Given the description of an element on the screen output the (x, y) to click on. 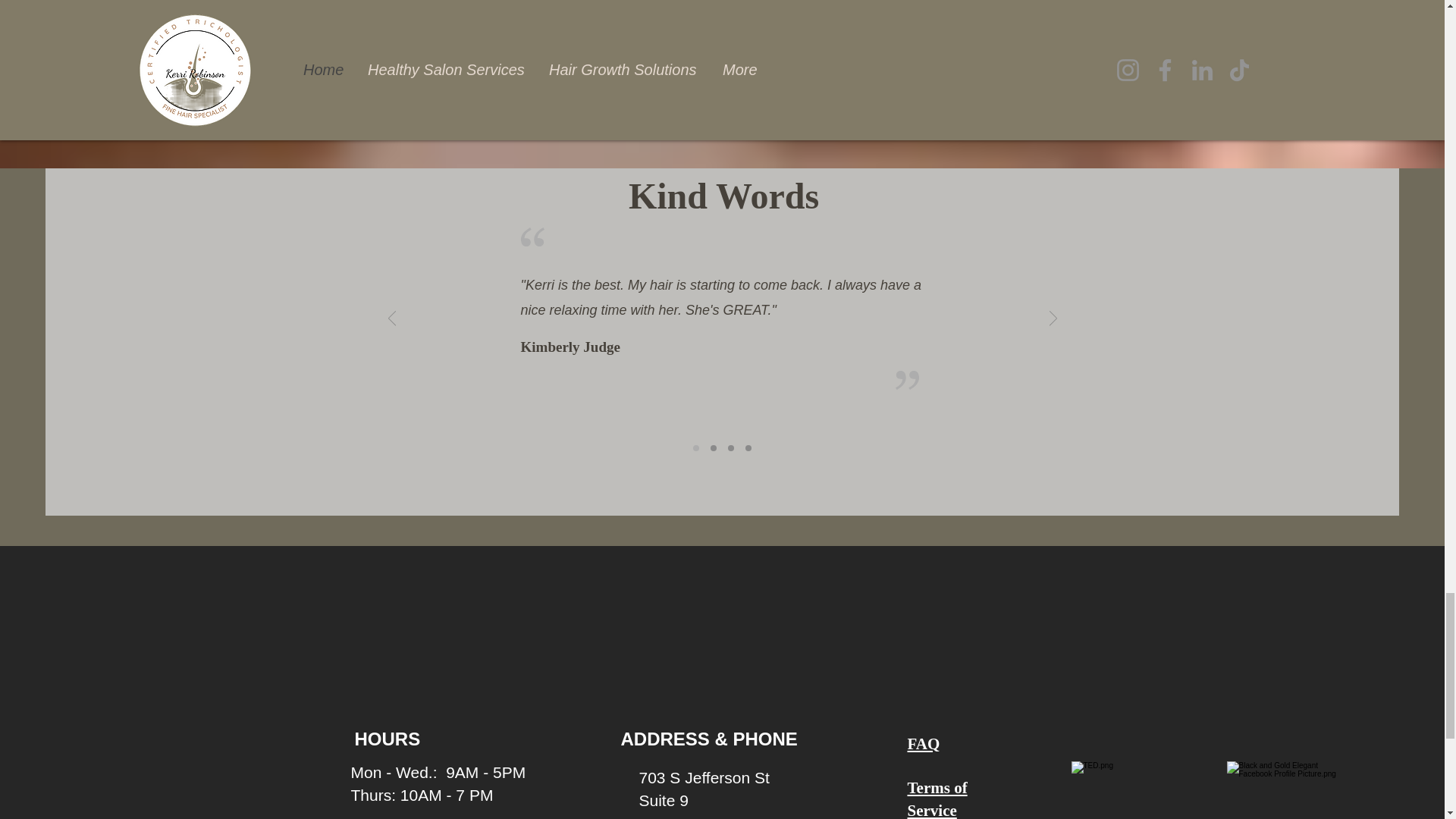
Terms of Service (936, 798)
FAQ (923, 742)
